Given the description of an element on the screen output the (x, y) to click on. 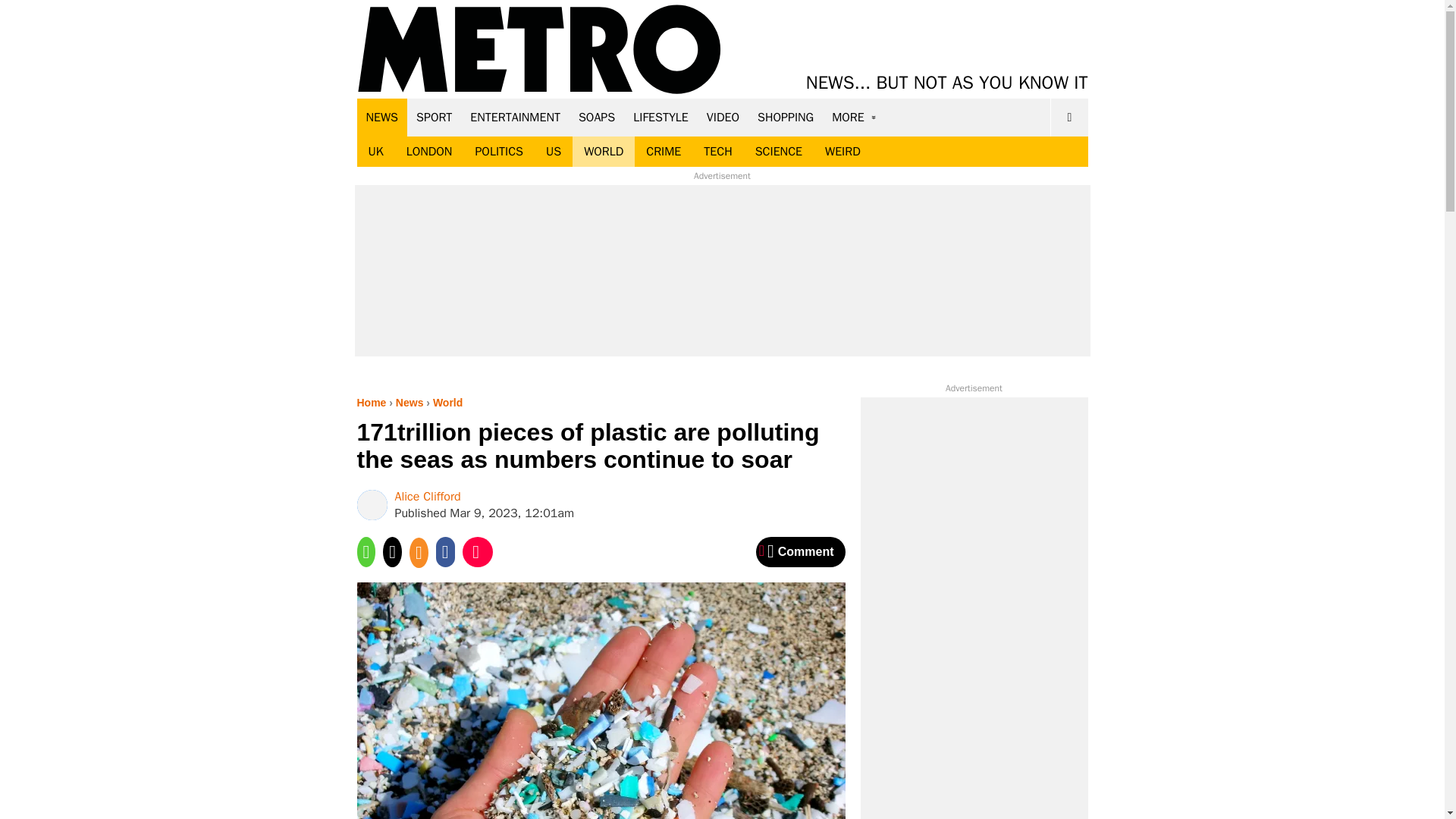
SCIENCE (778, 151)
SOAPS (596, 117)
WORLD (603, 151)
TECH (717, 151)
UK (375, 151)
LIFESTYLE (660, 117)
Metro (539, 50)
WEIRD (842, 151)
POLITICS (498, 151)
US (553, 151)
